Given the description of an element on the screen output the (x, y) to click on. 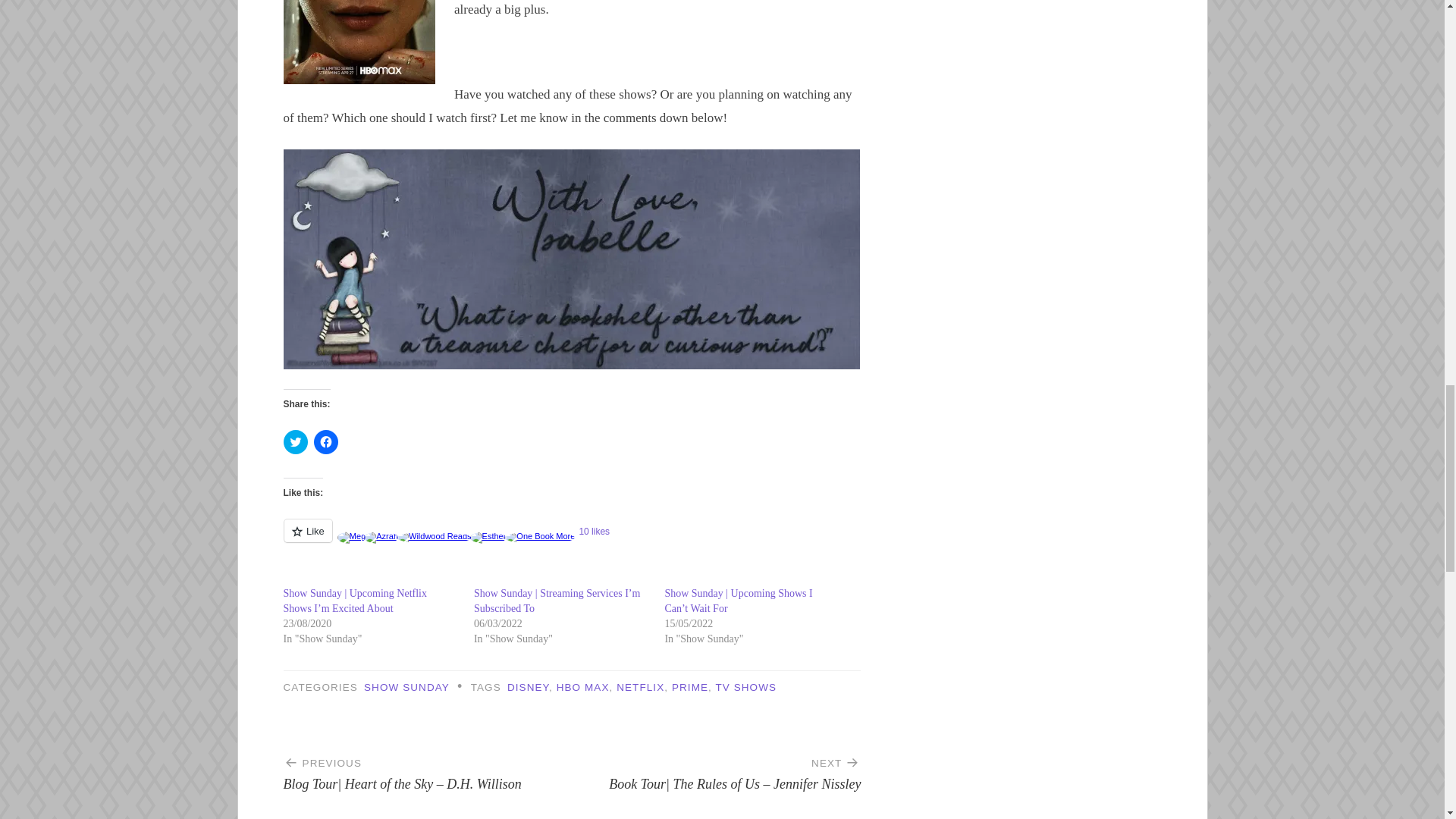
Click to share on Twitter (295, 441)
Click to share on Facebook (325, 441)
Like or Reblog (572, 539)
